Given the description of an element on the screen output the (x, y) to click on. 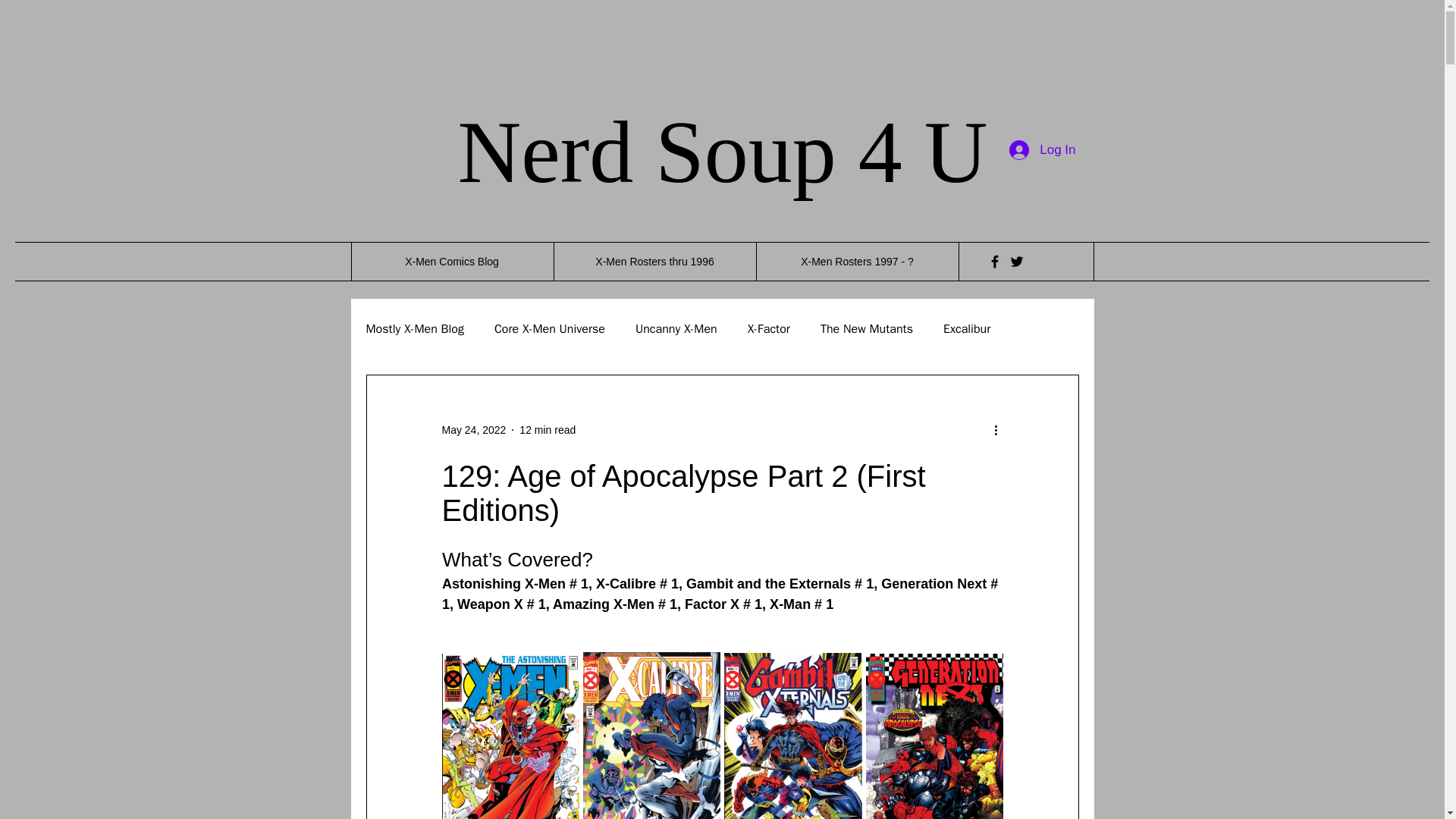
X-Men Rosters 1997 - ? (856, 261)
Core X-Men Universe (550, 329)
X-Factor (769, 329)
Nerd Soup 4 U (722, 152)
Uncanny X-Men (675, 329)
Mostly X-Men Blog (414, 329)
X-Men Comics Blog (451, 261)
Excalibur (966, 329)
12 min read (547, 428)
X-Men Rosters thru 1996 (654, 261)
Log In (1042, 149)
The New Mutants (866, 329)
May 24, 2022 (473, 428)
